Given the description of an element on the screen output the (x, y) to click on. 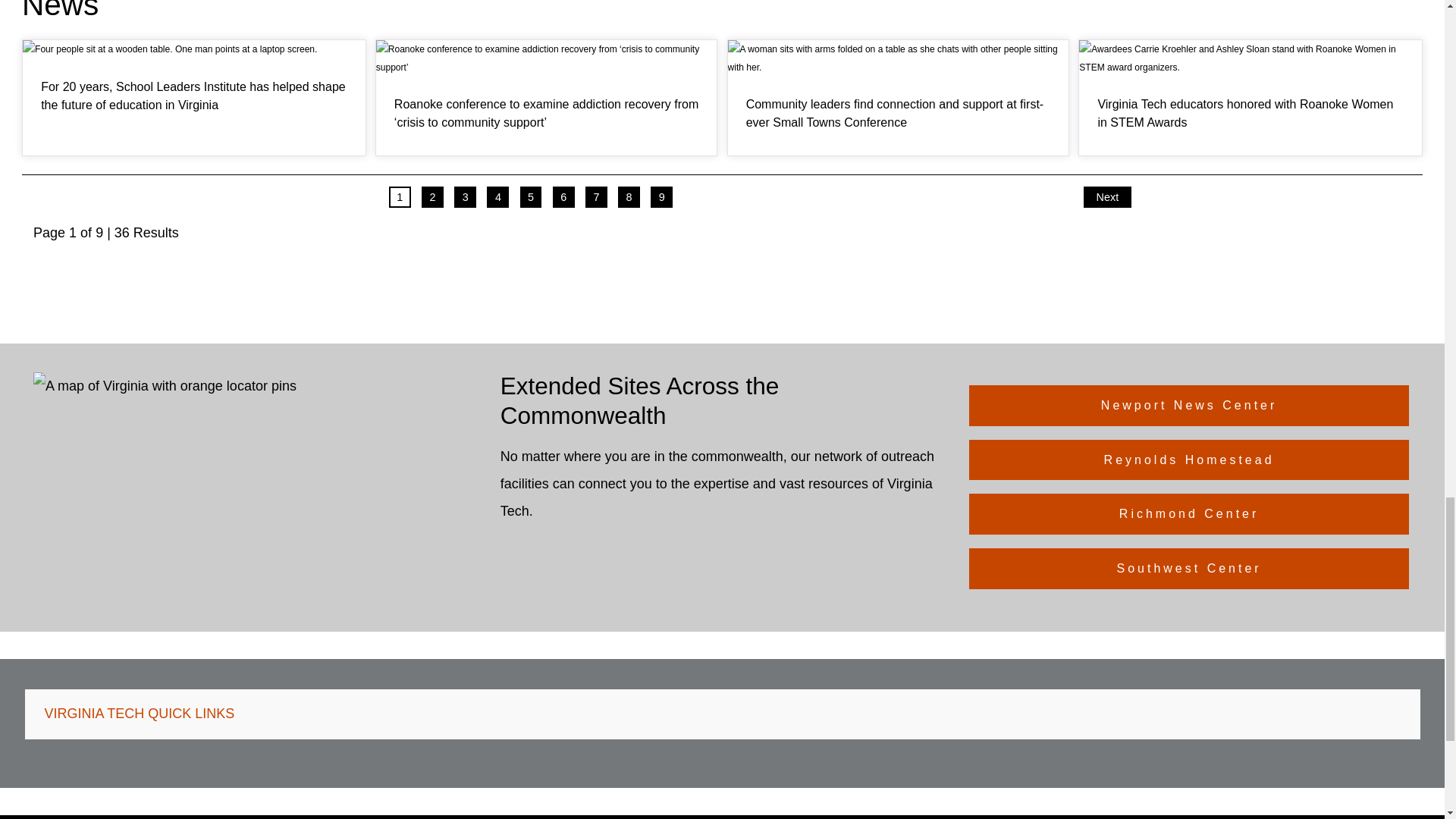
Richmond (345, 386)
Newport News (401, 391)
Abingdon (126, 394)
Roanoke (224, 390)
Reynolds Homestead (218, 394)
